Given the description of an element on the screen output the (x, y) to click on. 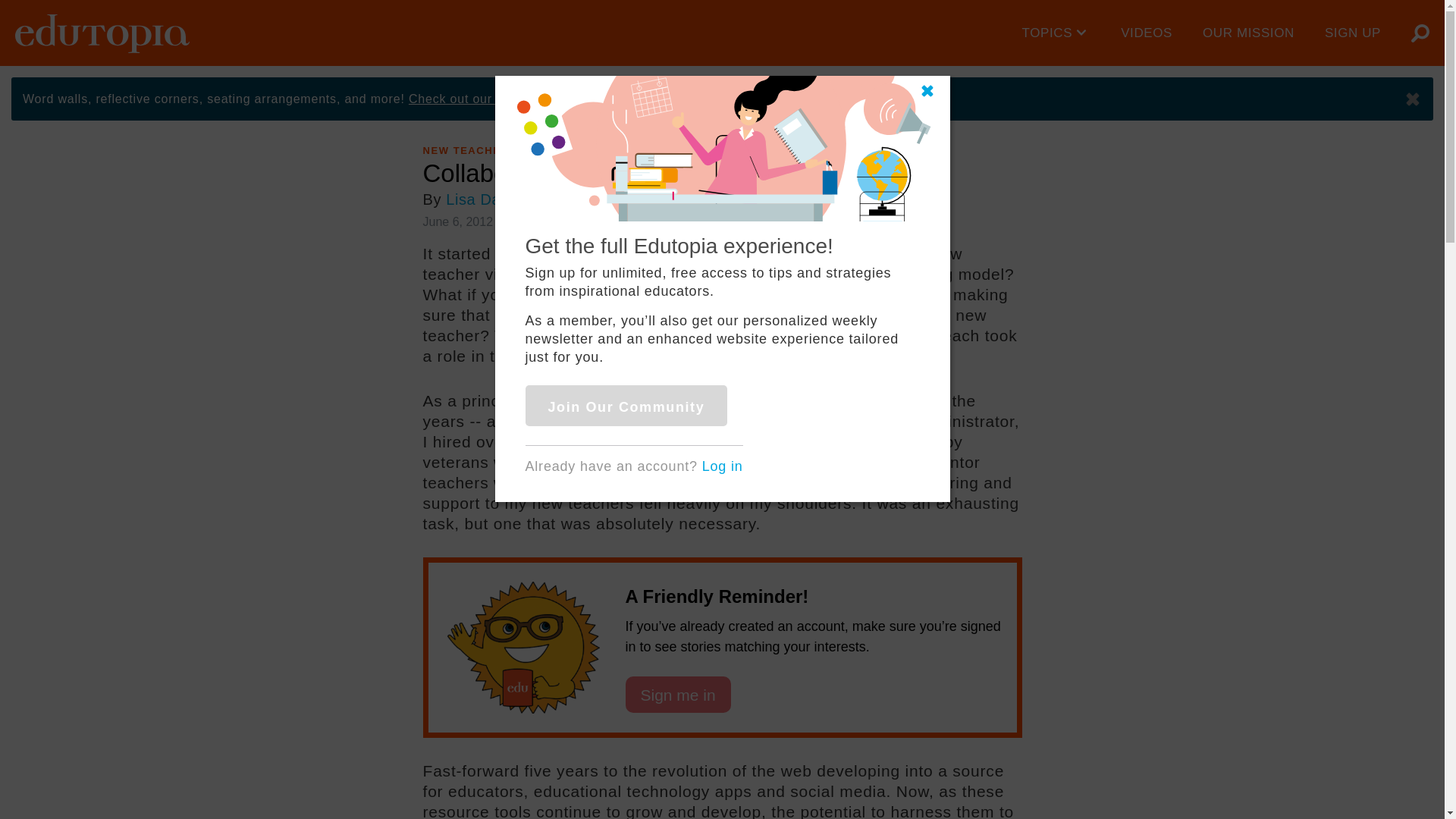
SIGN UP (1352, 33)
Sign me in (677, 694)
OUR MISSION (1248, 33)
Lisa Dabbs (485, 199)
Check out our classroom design collection (535, 98)
Edutopia (101, 33)
TOPICS (1056, 33)
Edutopia (101, 33)
VIDEOS (1146, 33)
